Given the description of an element on the screen output the (x, y) to click on. 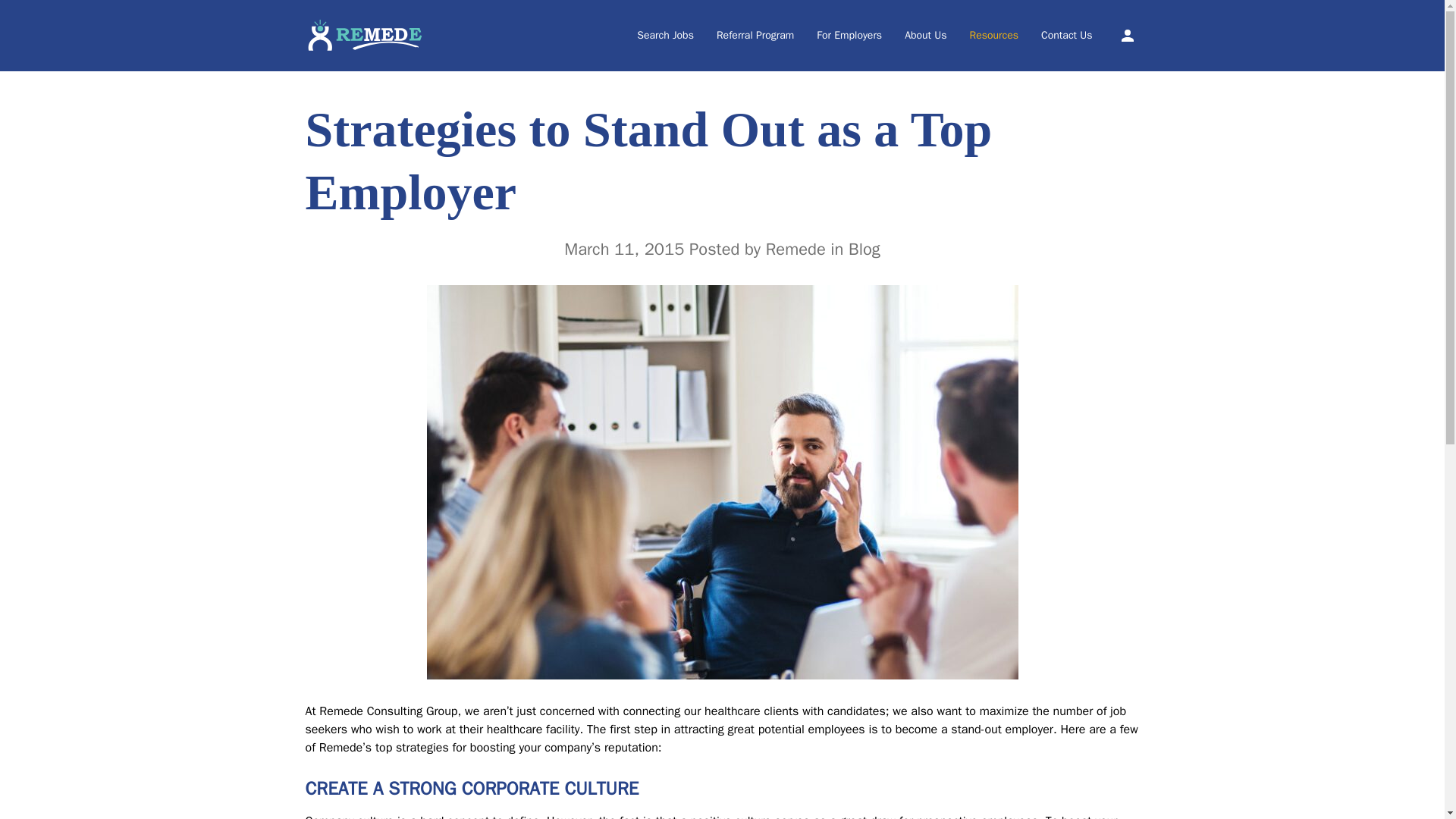
About Us (925, 35)
Search Jobs (665, 35)
Resources (994, 35)
Employee Login (1126, 35)
Blog (864, 249)
For Employers (849, 35)
Contact Us (1066, 35)
Referral Program (754, 35)
